Given the description of an element on the screen output the (x, y) to click on. 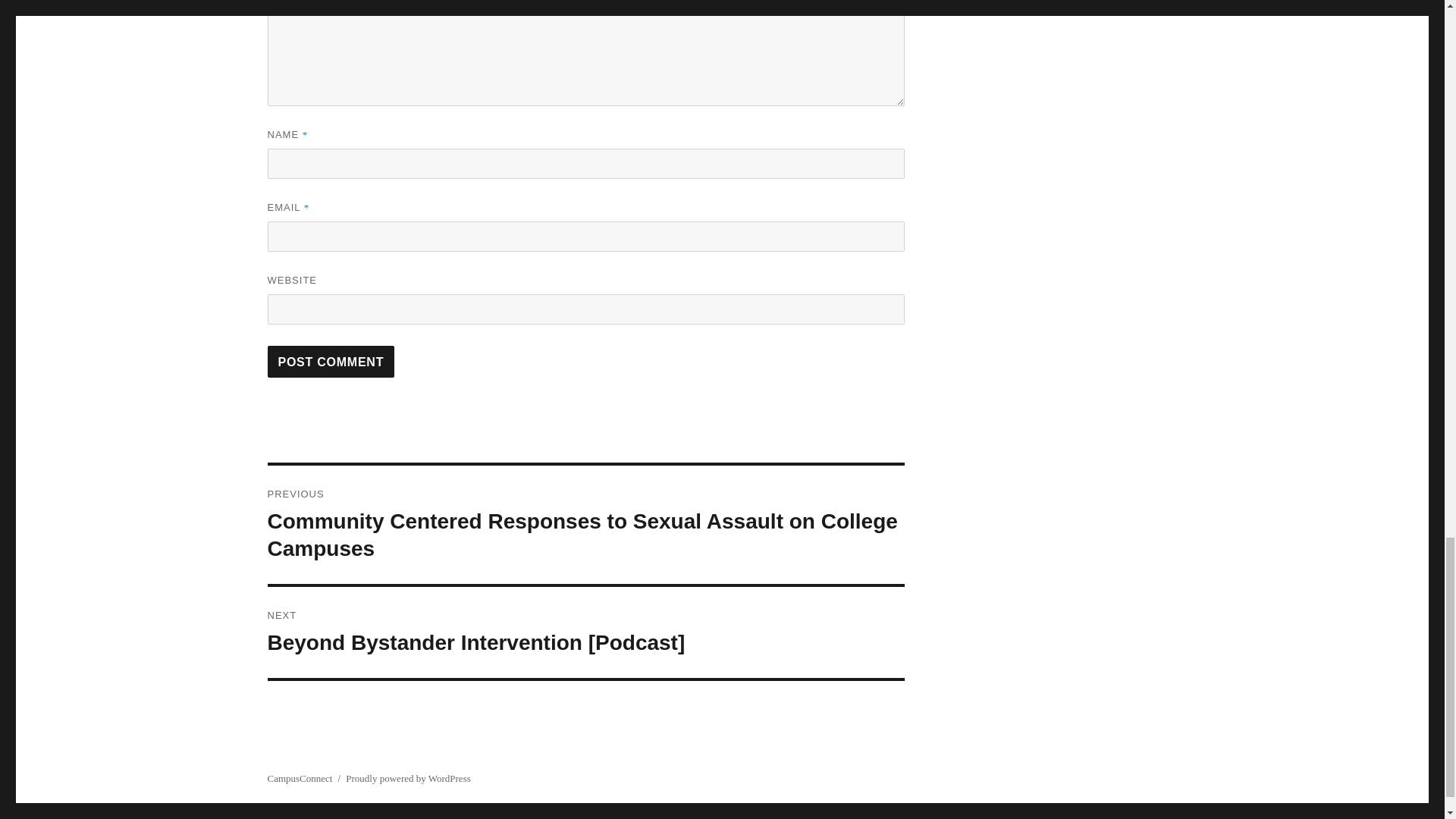
Post Comment (330, 361)
Proudly powered by WordPress (408, 778)
Post Comment (330, 361)
CampusConnect (298, 778)
